Given the description of an element on the screen output the (x, y) to click on. 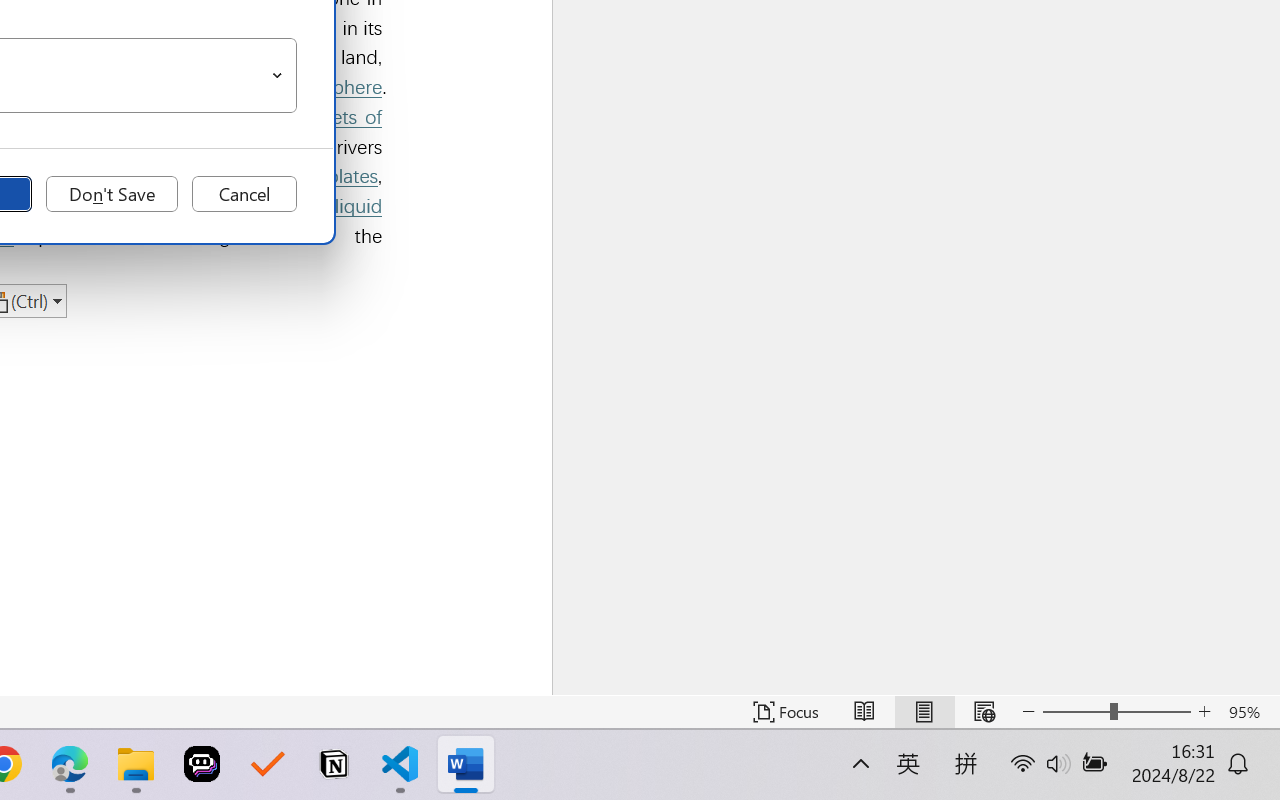
Cancel (244, 194)
Notion (333, 764)
Don't Save (111, 194)
